Given the description of an element on the screen output the (x, y) to click on. 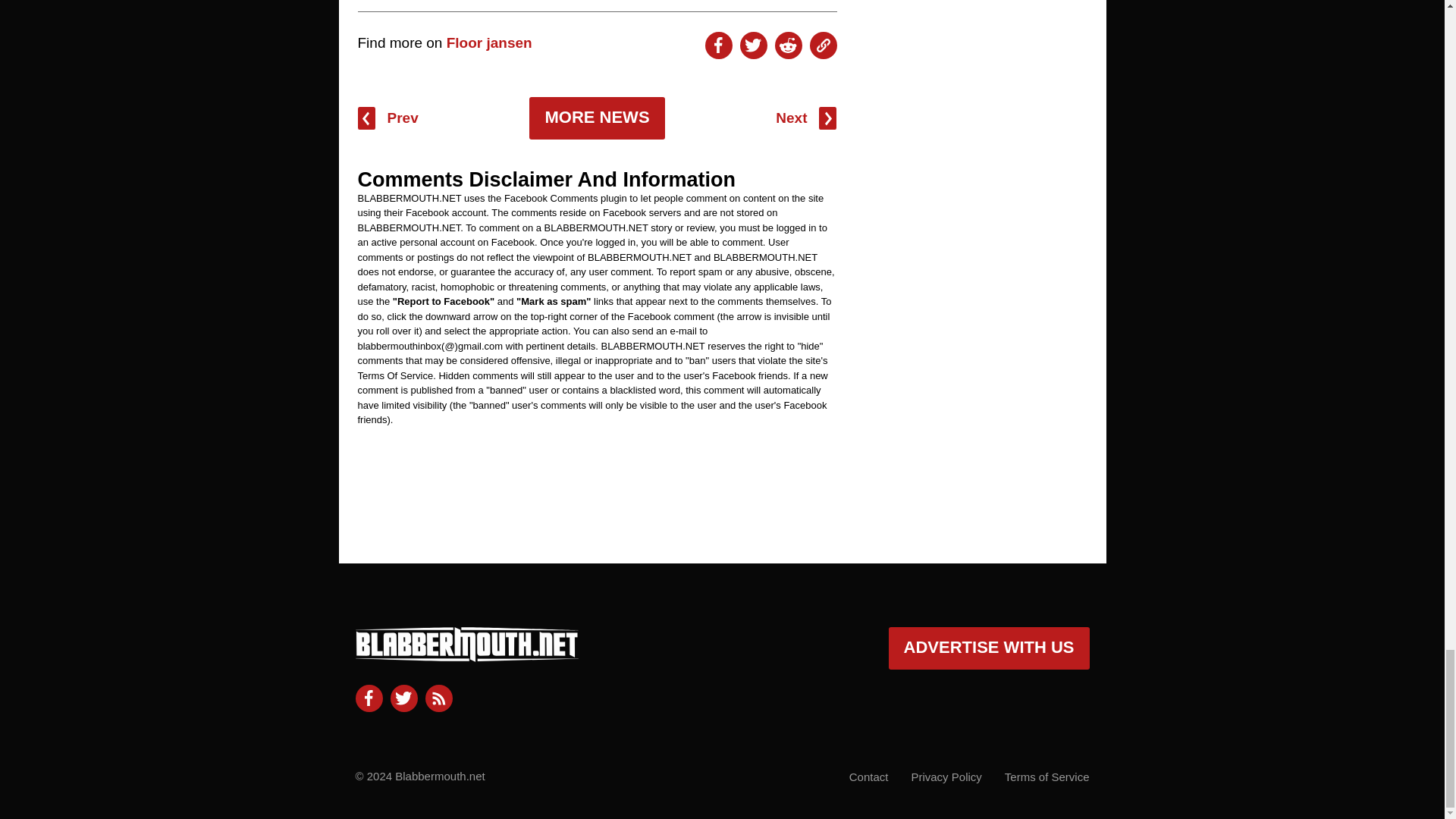
Share On Facebook (718, 44)
blabbermouth (466, 655)
Share On Twitter (753, 44)
Next (805, 118)
Copy To Clipboard (823, 44)
MORE NEWS (596, 118)
Share On Reddit (788, 44)
Prev (388, 118)
Floor jansen (489, 42)
